Given the description of an element on the screen output the (x, y) to click on. 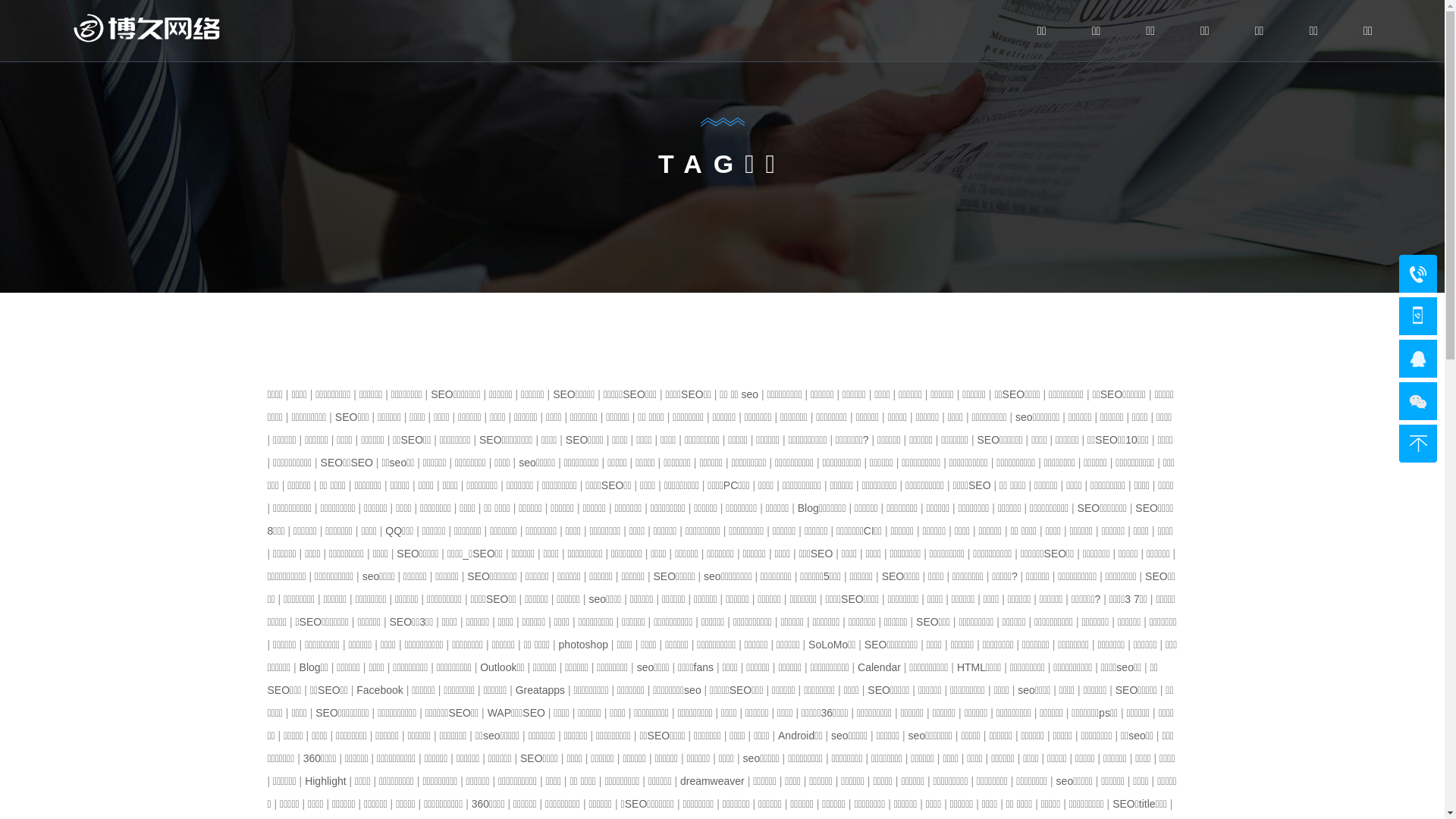
Calendar Element type: text (878, 667)
dreamweaver Element type: text (712, 781)
Greatapps Element type: text (539, 690)
Highlight Element type: text (324, 781)
Facebook Element type: text (379, 690)
photoshop Element type: text (583, 644)
